Given the description of an element on the screen output the (x, y) to click on. 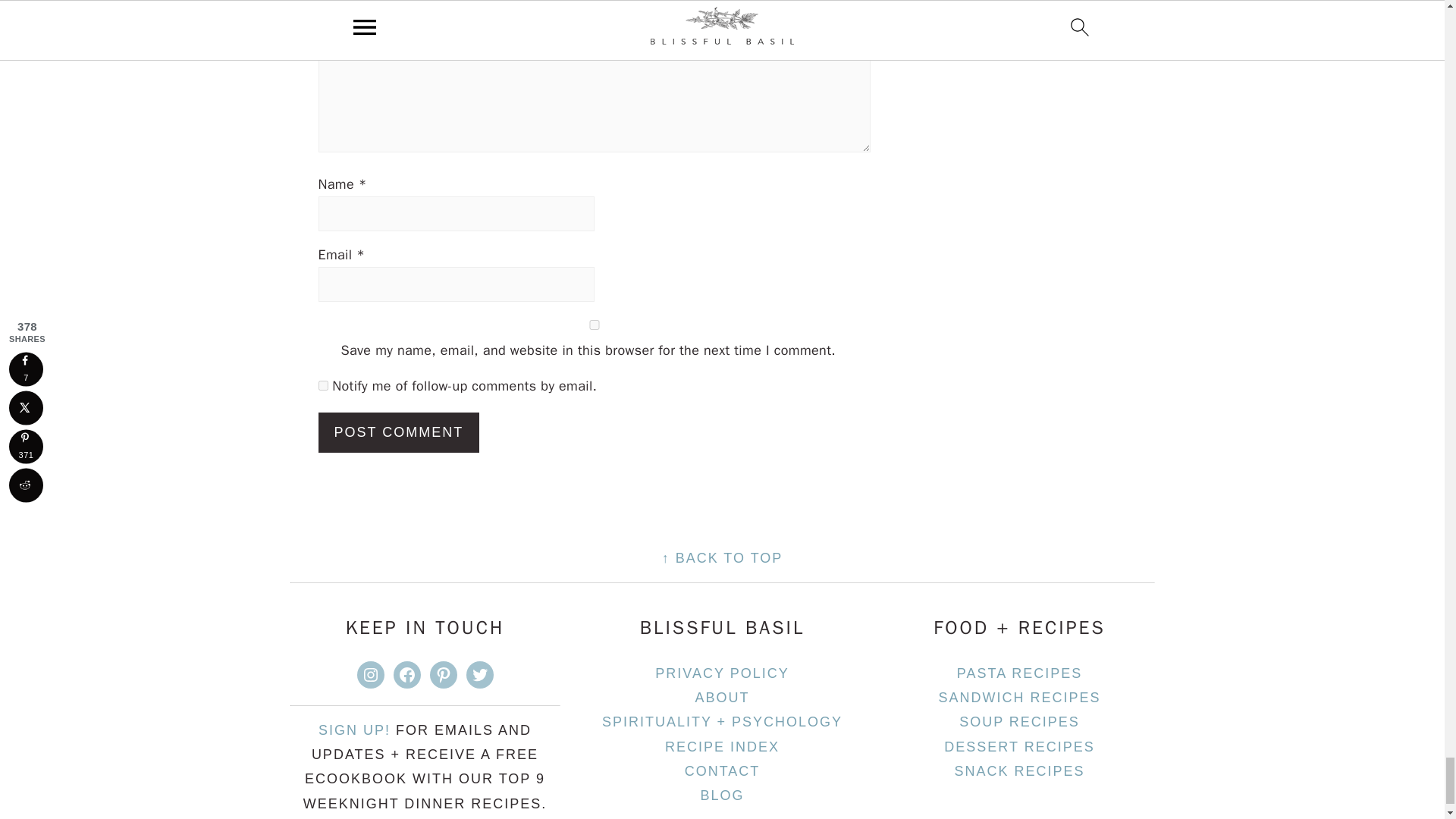
subscribe (323, 385)
yes (594, 325)
Post Comment (399, 432)
